Given the description of an element on the screen output the (x, y) to click on. 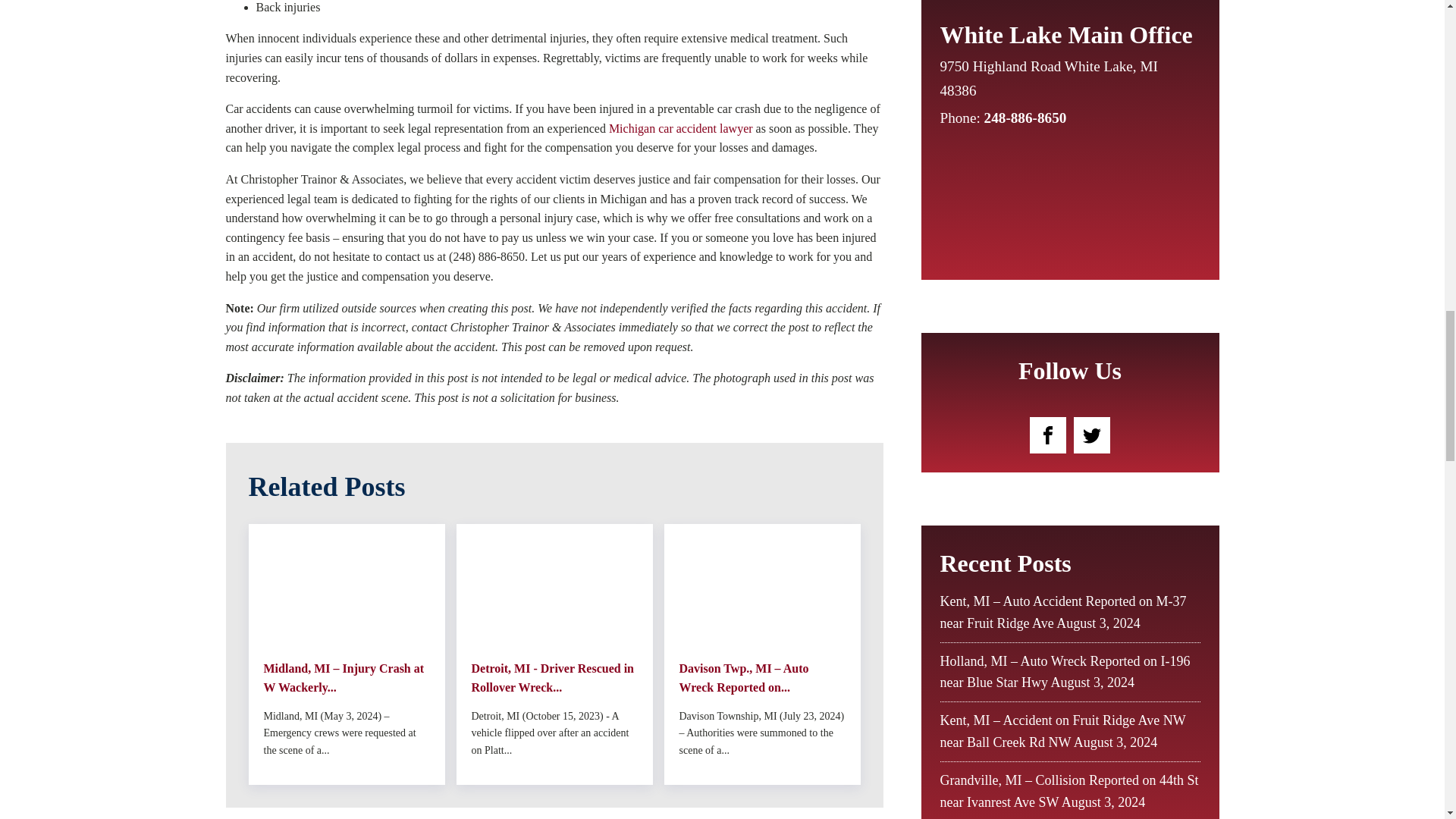
9750 Highland Road White Lake, MI 48386 (1056, 78)
Detroit, MI - Driver Rescued in Rollover Wreck... (554, 678)
248-886-8650 (1025, 117)
Michigan car accident lawyer (680, 128)
